Given the description of an element on the screen output the (x, y) to click on. 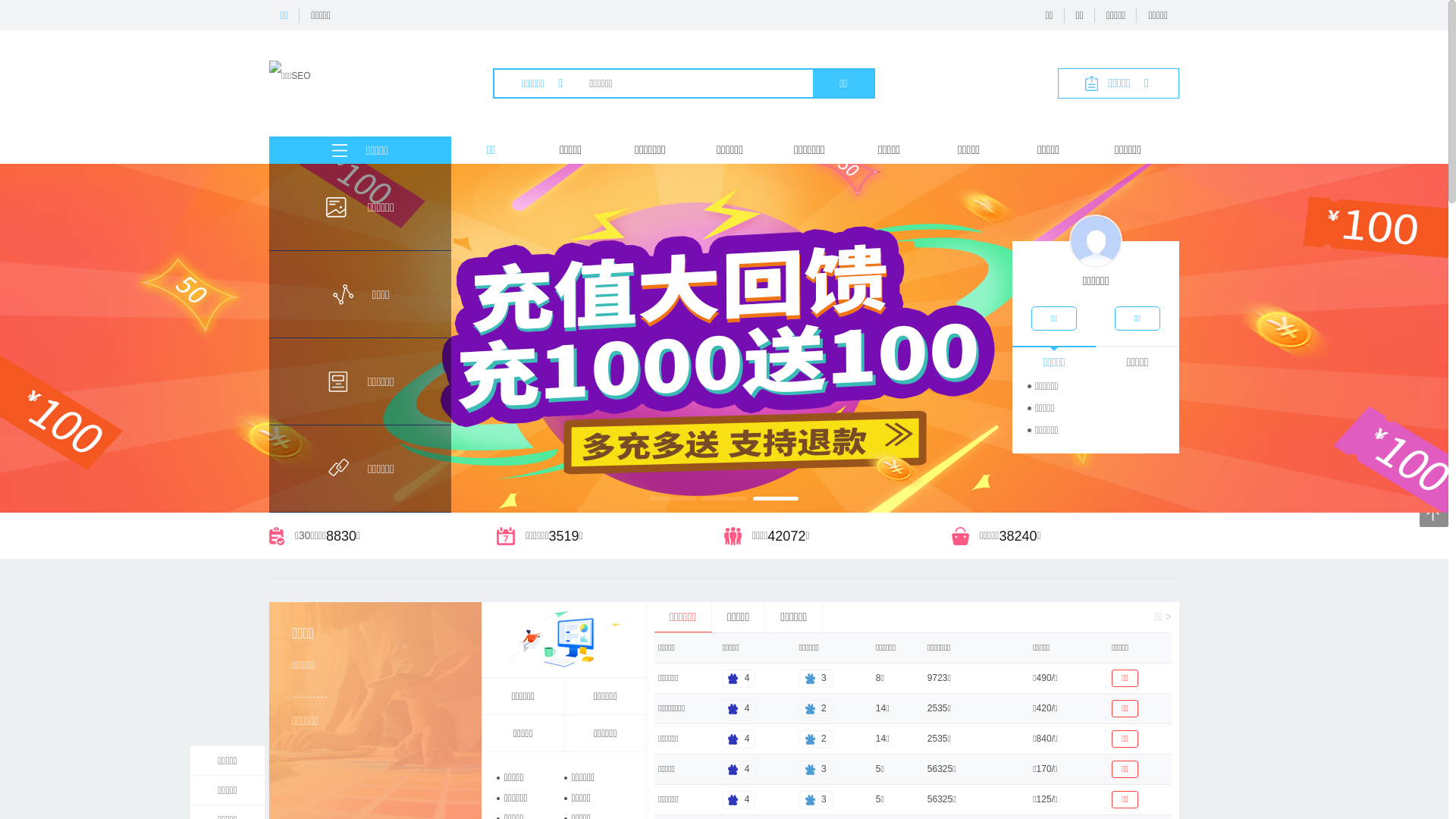
4 Element type: text (738, 768)
3 Element type: text (815, 768)
4 Element type: text (738, 738)
2 Element type: text (815, 707)
2 Element type: text (815, 738)
4 Element type: text (738, 677)
3 Element type: text (815, 677)
4 Element type: text (738, 707)
3 Element type: text (815, 798)
4 Element type: text (738, 798)
